Given the description of an element on the screen output the (x, y) to click on. 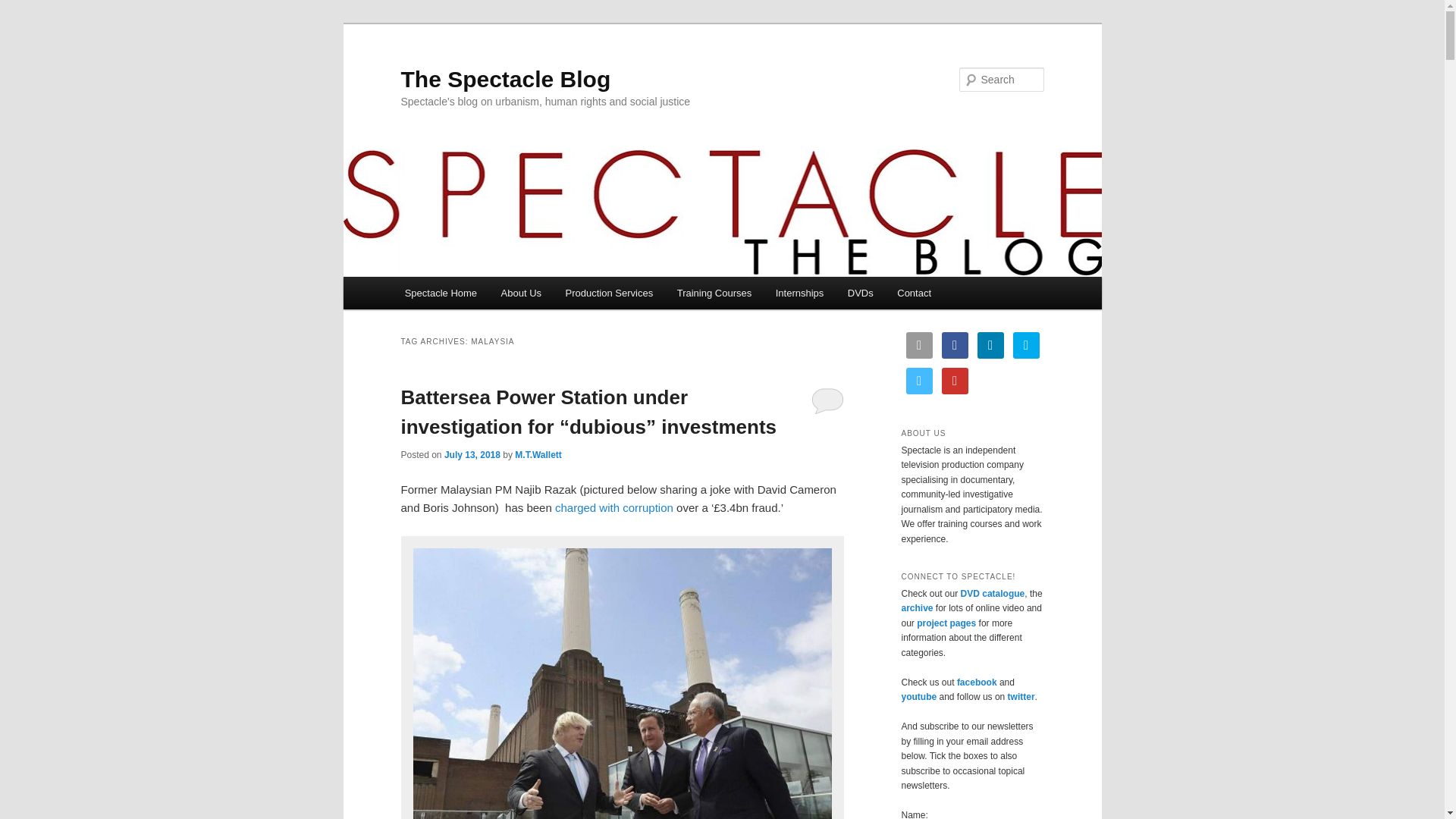
Production Services (609, 292)
About Us (521, 292)
2:12 pm (472, 454)
Contact (914, 292)
The Spectacle Blog (505, 78)
Search (24, 8)
Spectacle Home (441, 292)
Internships (798, 292)
View all posts by M.T.Wallett (538, 454)
